Given the description of an element on the screen output the (x, y) to click on. 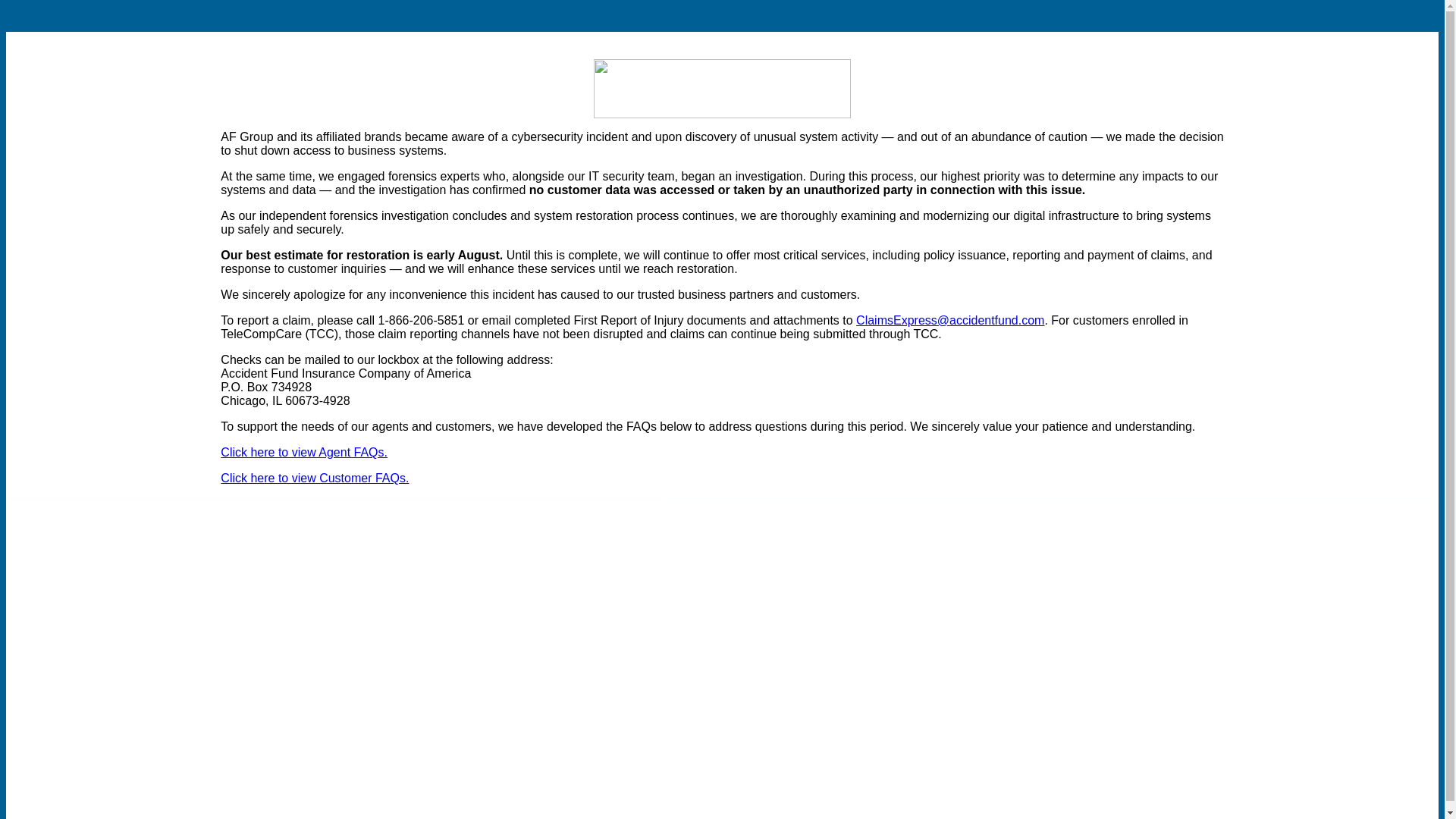
Click here to view Customer FAQs. (315, 477)
Click here to view Agent FAQs. (304, 451)
